Given the description of an element on the screen output the (x, y) to click on. 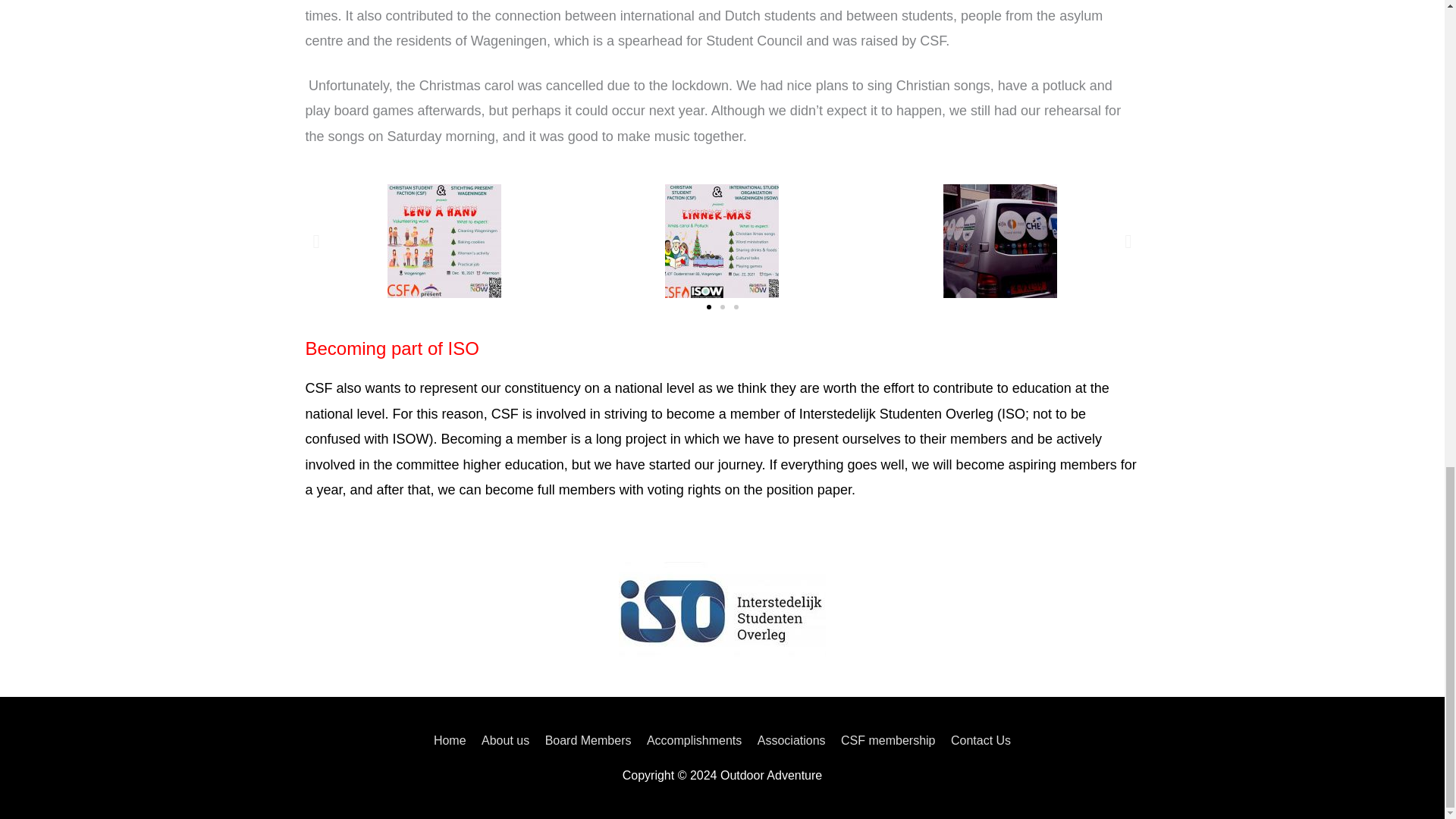
Contact Us (977, 739)
About us (505, 739)
Board Members (587, 739)
Associations (791, 739)
Accomplishments (694, 739)
CSF membership (887, 739)
Home (452, 739)
